Given the description of an element on the screen output the (x, y) to click on. 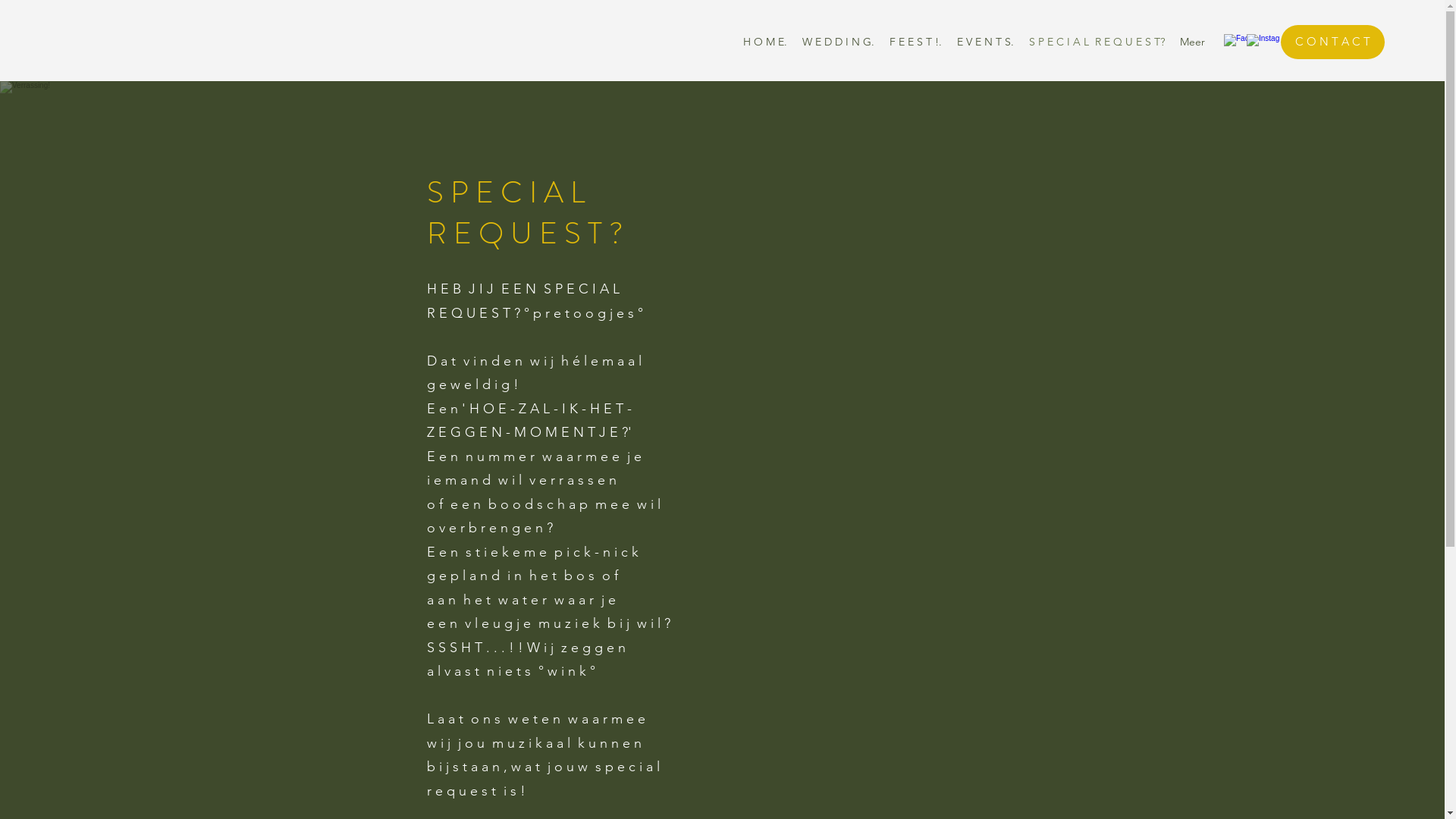
F E E S T !. Element type: text (915, 41)
C O N T A C T Element type: text (1332, 42)
H O M E. Element type: text (764, 41)
W E D D I N G. Element type: text (837, 41)
S P E C I A L  R E Q U E S T? Element type: text (1096, 41)
E V E N T S. Element type: text (985, 41)
